Given the description of an element on the screen output the (x, y) to click on. 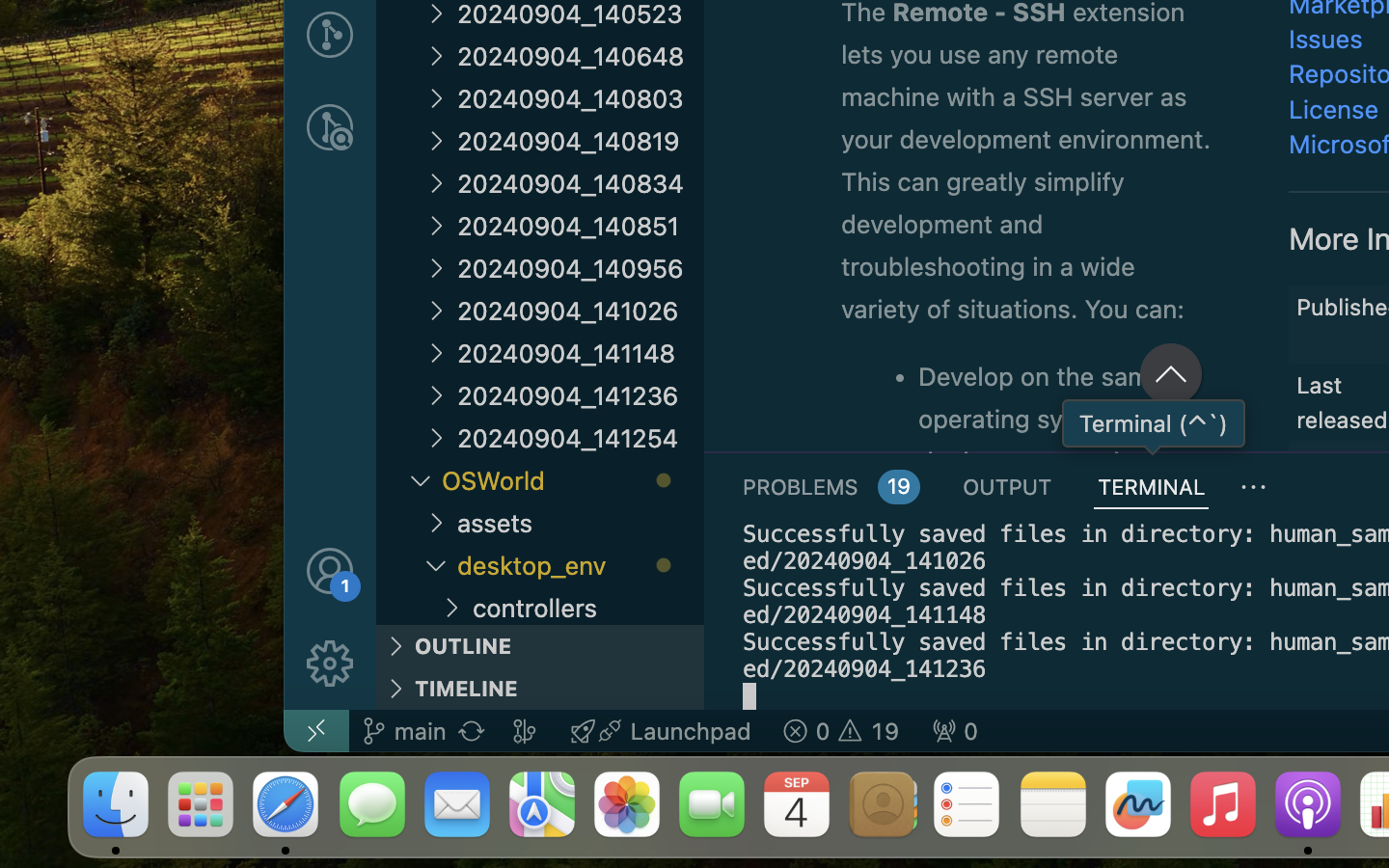
20240904_141148 Element type: AXGroup (580, 352)
20240904_140648 Element type: AXGroup (580, 55)
20240904_140819 Element type: AXGroup (580, 140)
 Element type: AXGroup (329, 570)
Launchpad   Element type: AXButton (660, 730)
